Given the description of an element on the screen output the (x, y) to click on. 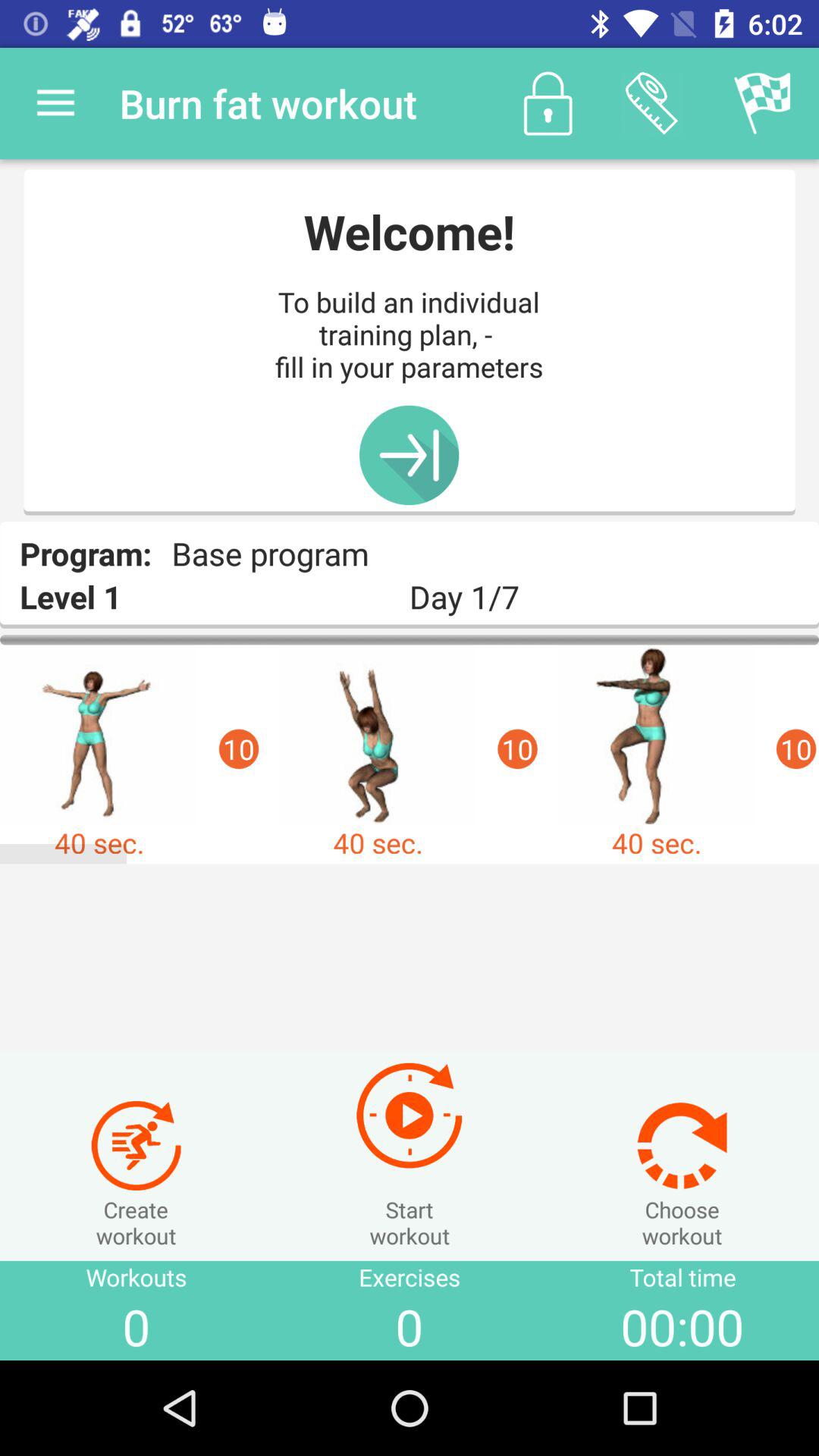
press item to the left of the burn fat workout icon (55, 103)
